Given the description of an element on the screen output the (x, y) to click on. 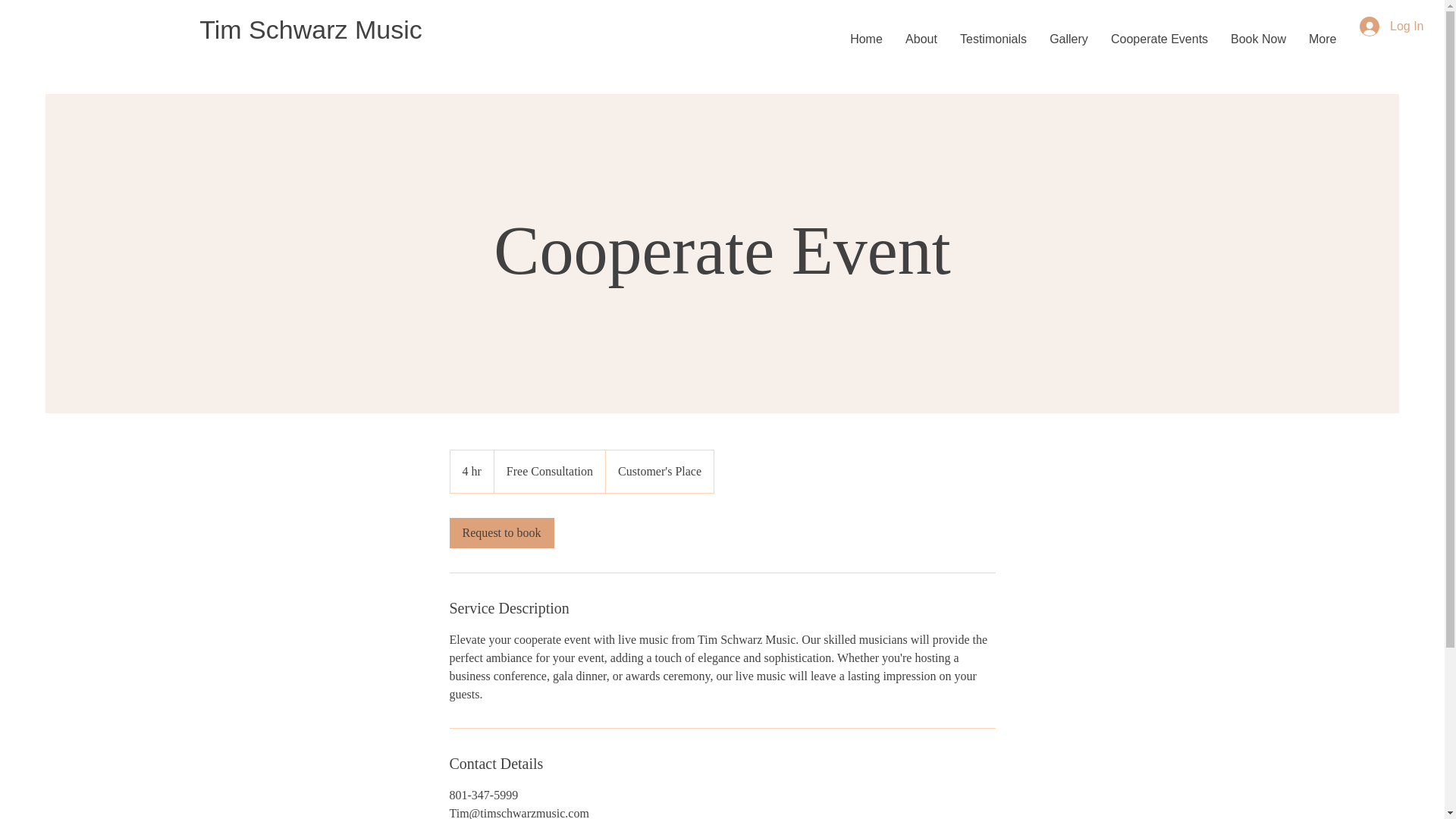
Gallery (1068, 38)
Request to book (500, 532)
Testimonials (993, 38)
Cooperate Events (1159, 38)
Book Now (1258, 38)
Tim Schwarz Music (310, 29)
Log In (1385, 26)
About (921, 38)
Home (865, 38)
